Given the description of an element on the screen output the (x, y) to click on. 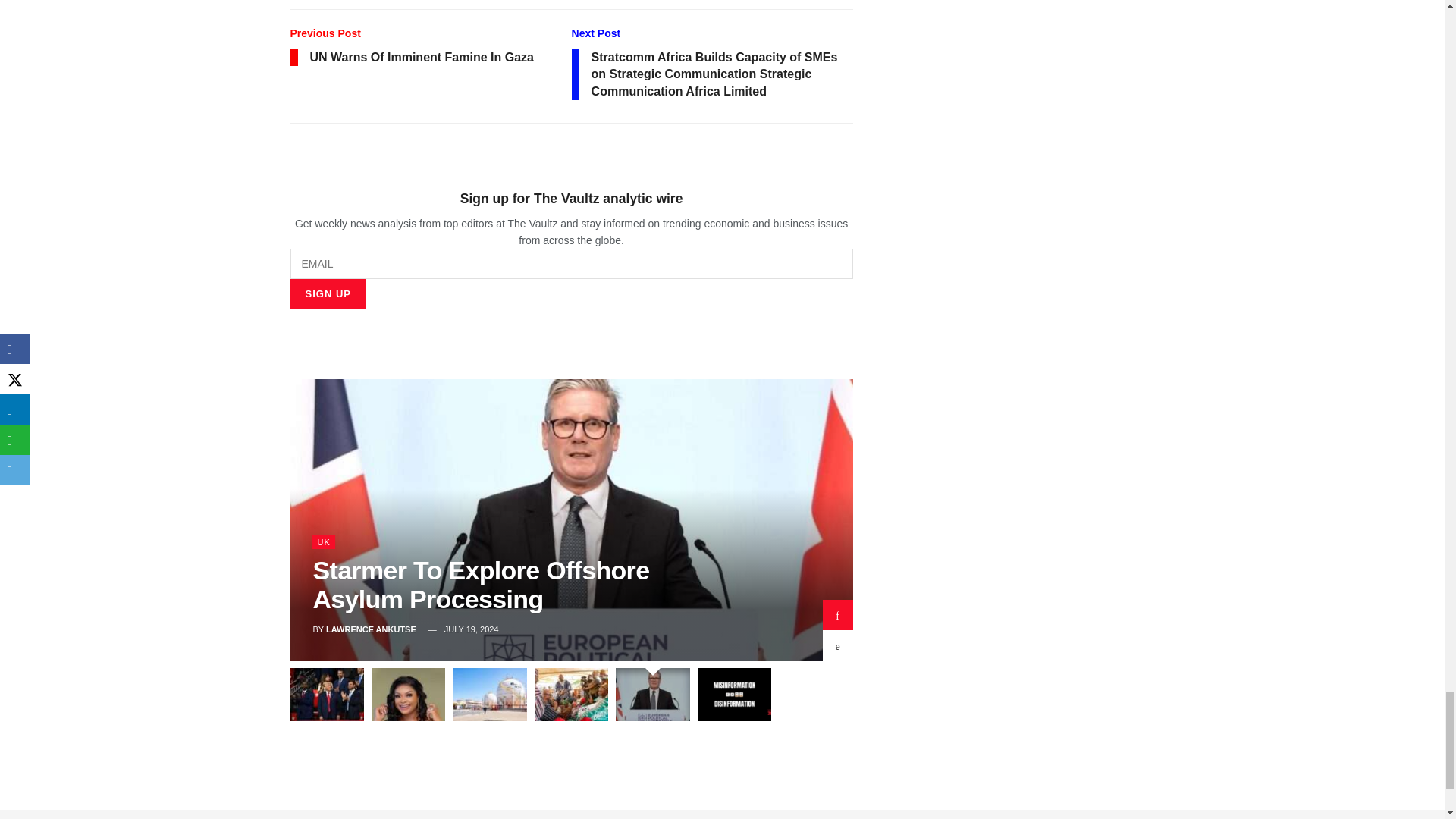
Sign up (327, 294)
